Given the description of an element on the screen output the (x, y) to click on. 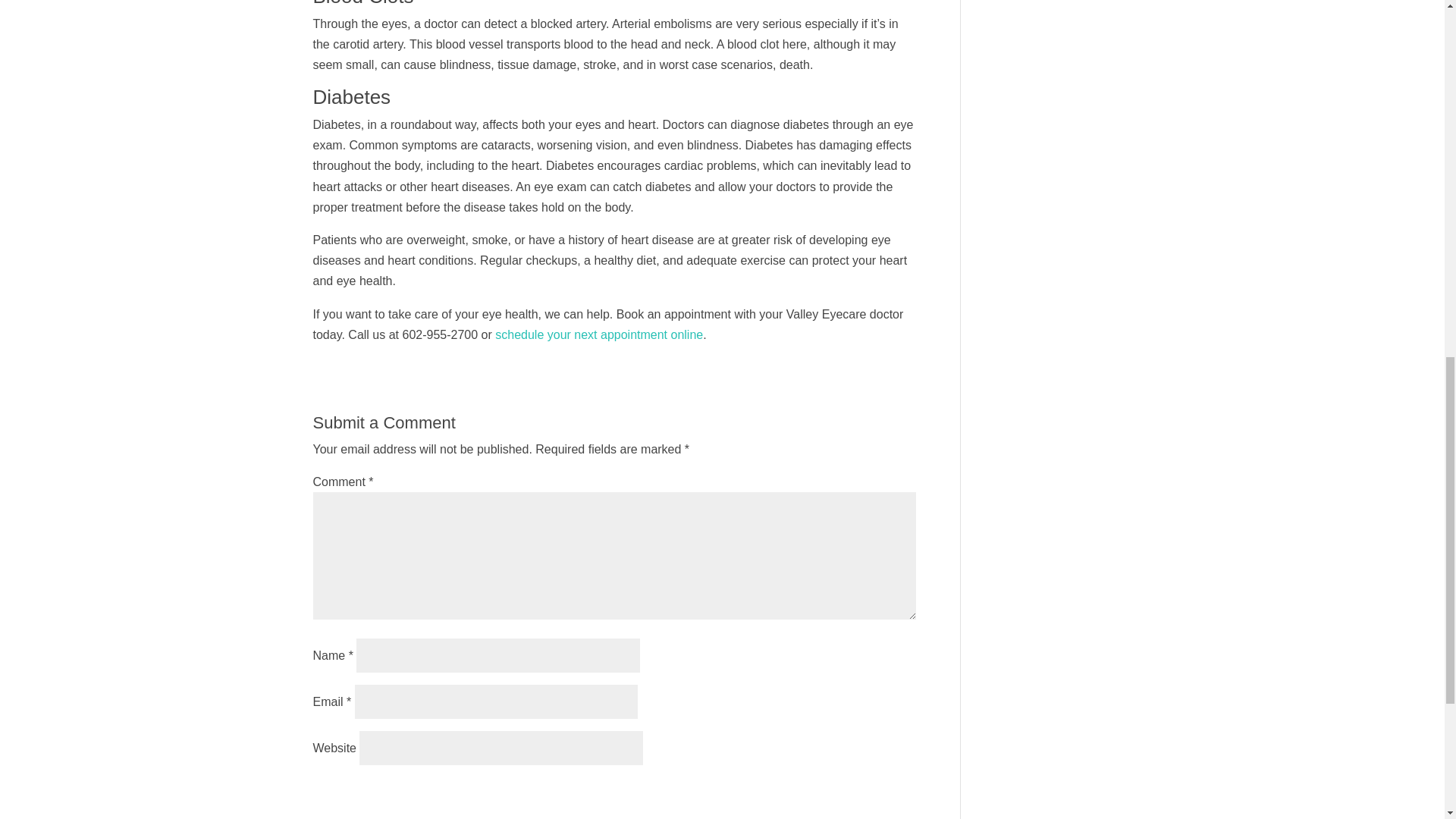
Submit Comment (840, 795)
Submit Comment (840, 795)
schedule your next appointment online (599, 334)
